Given the description of an element on the screen output the (x, y) to click on. 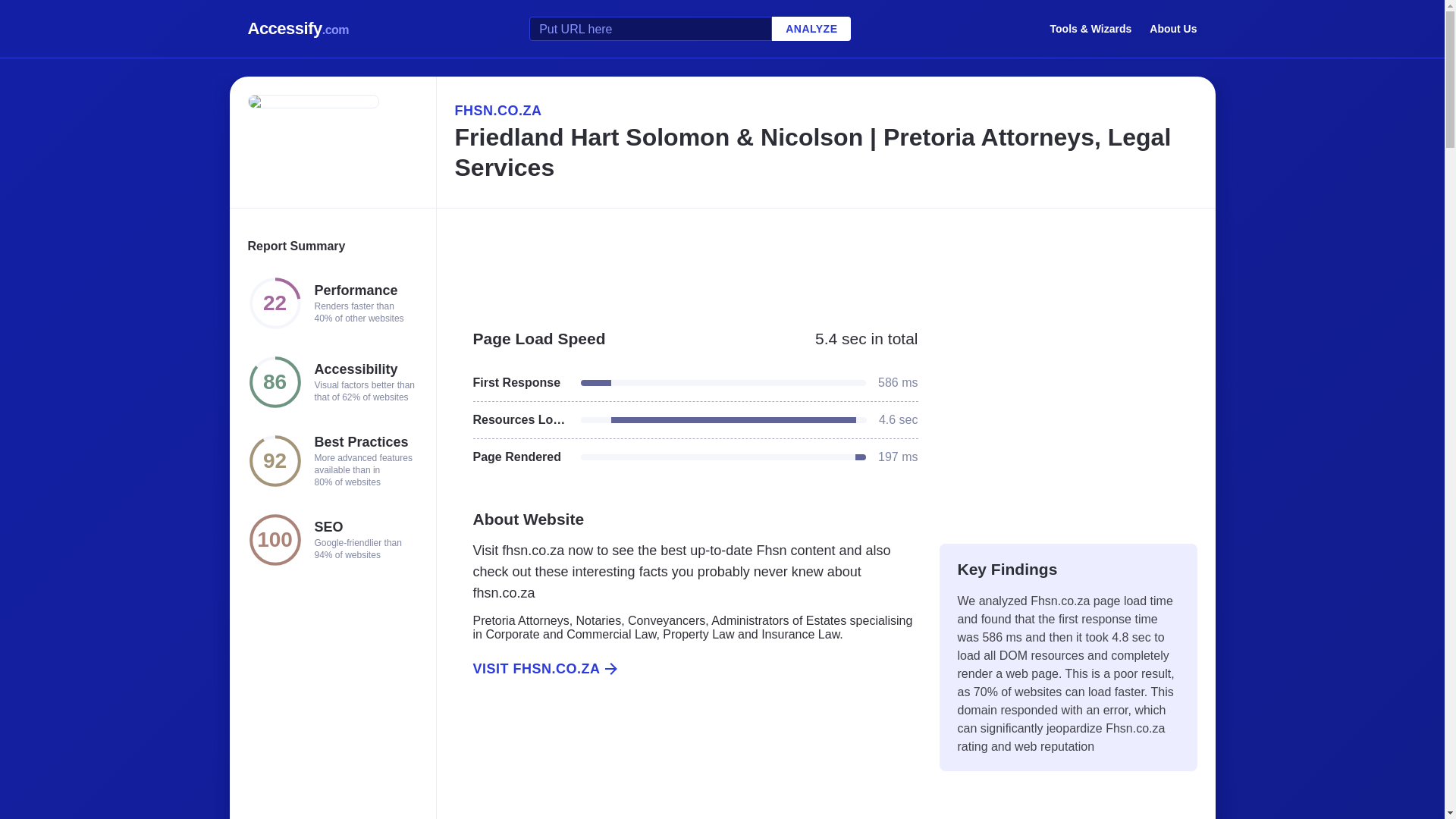
FHSN.CO.ZA (825, 110)
About Us (1173, 28)
VISIT FHSN.CO.ZA (686, 669)
Accessify.com (298, 28)
ANALYZE (810, 28)
